Given the description of an element on the screen output the (x, y) to click on. 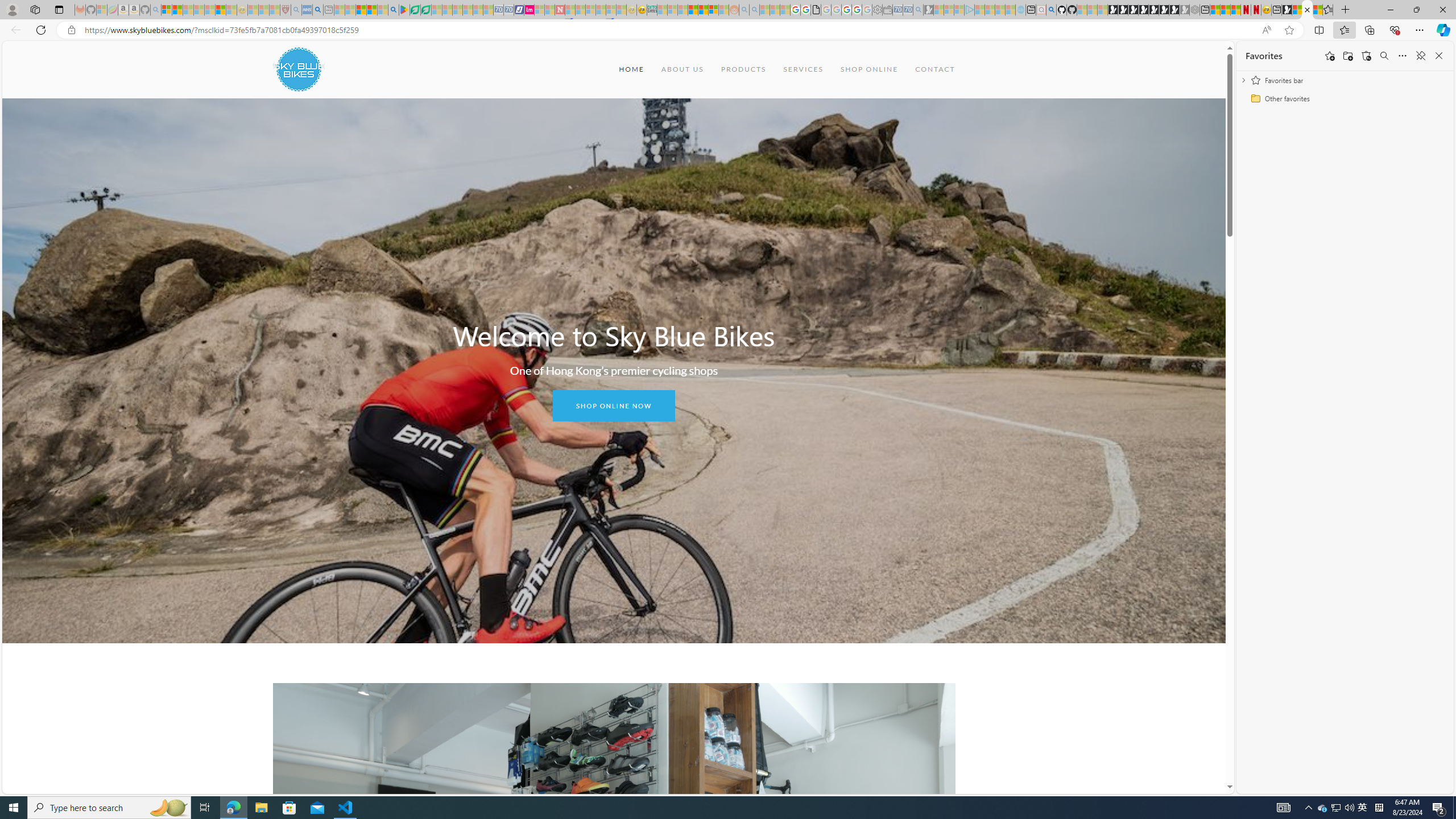
14 Common Myths Debunked By Scientific Facts - Sleeping (579, 9)
Terms of Use Agreement (414, 9)
The Weather Channel - MSN - Sleeping (187, 9)
World - MSN (1297, 9)
NCL Adult Asthma Inhaler Choice Guideline - Sleeping (307, 9)
Settings - Sleeping (876, 9)
